Given the description of an element on the screen output the (x, y) to click on. 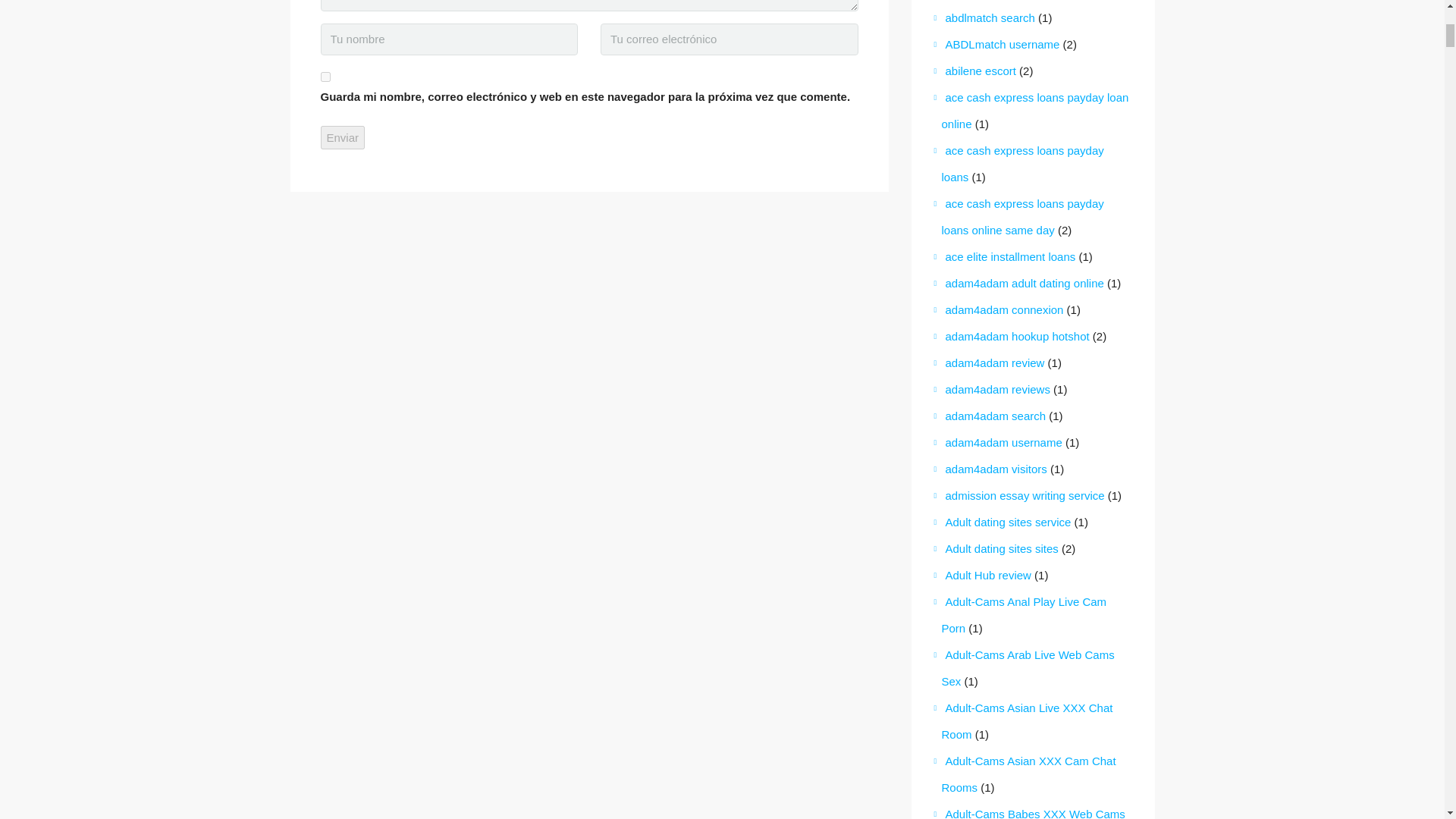
Enviar (342, 137)
yes (325, 76)
Enviar (342, 137)
